Given the description of an element on the screen output the (x, y) to click on. 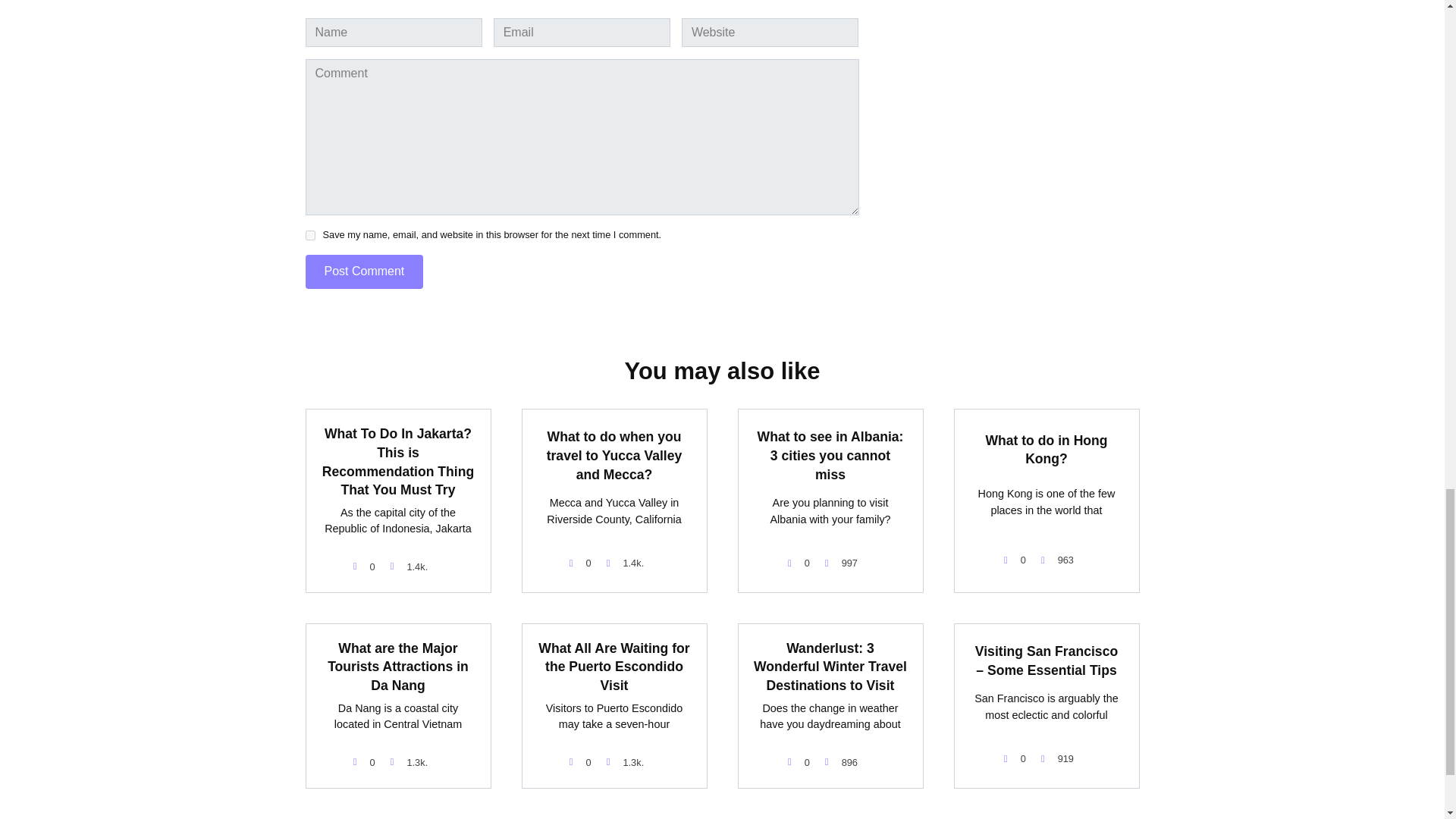
What are the Major Tourists Attractions in Da Nang (397, 666)
What All Are Waiting for the Puerto Escondido Visit (613, 666)
What to do when you travel to Yucca Valley and Mecca? (614, 455)
Wanderlust: 3 Wonderful Winter Travel Destinations to Visit (830, 666)
yes (309, 235)
Post Comment (363, 271)
Post Comment (363, 271)
What to see in Albania: 3 cities you cannot miss (830, 455)
What to do in Hong Kong? (1045, 448)
